Given the description of an element on the screen output the (x, y) to click on. 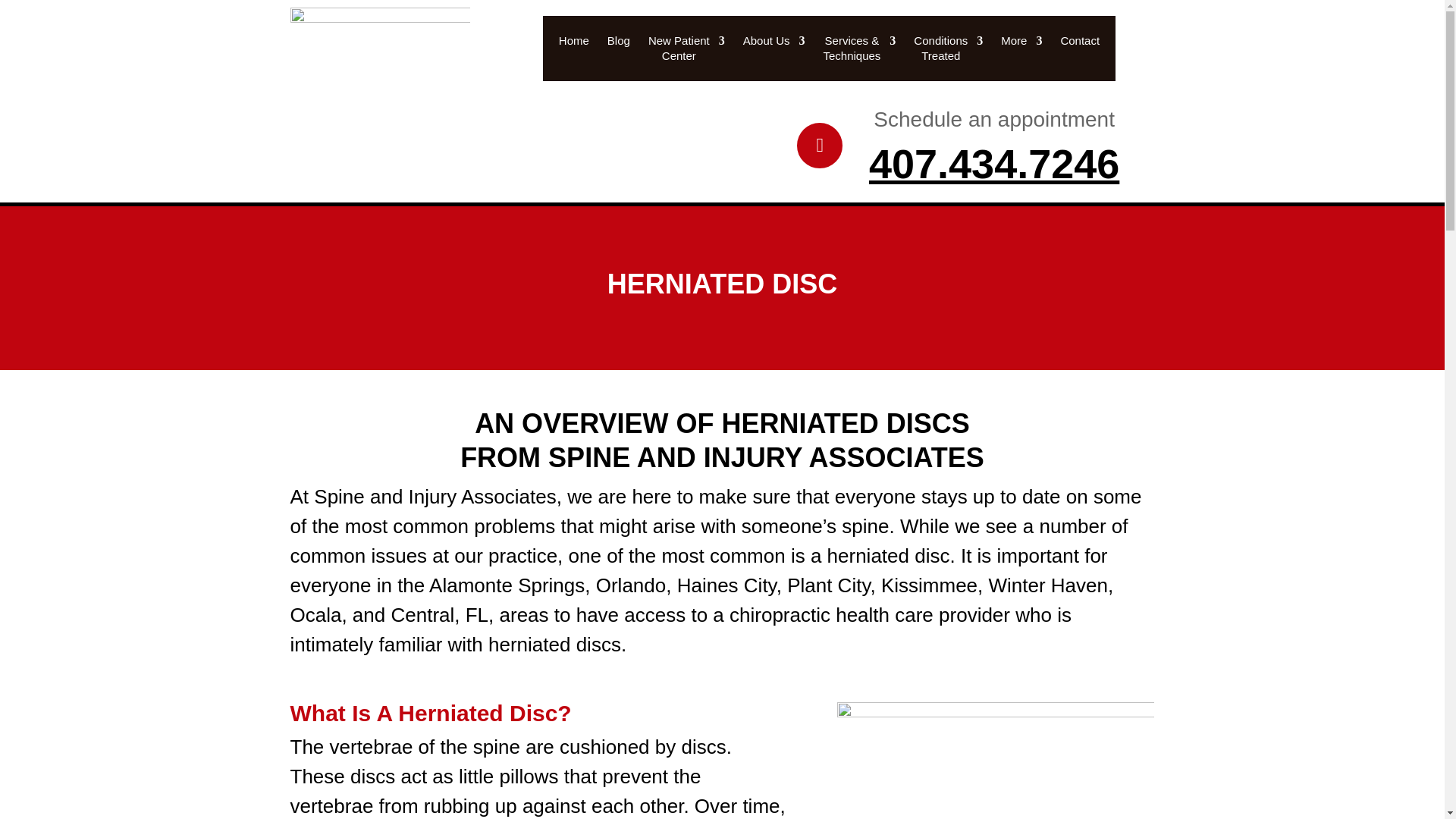
More (1021, 51)
Contact (1079, 51)
About Us (948, 51)
